Given the description of an element on the screen output the (x, y) to click on. 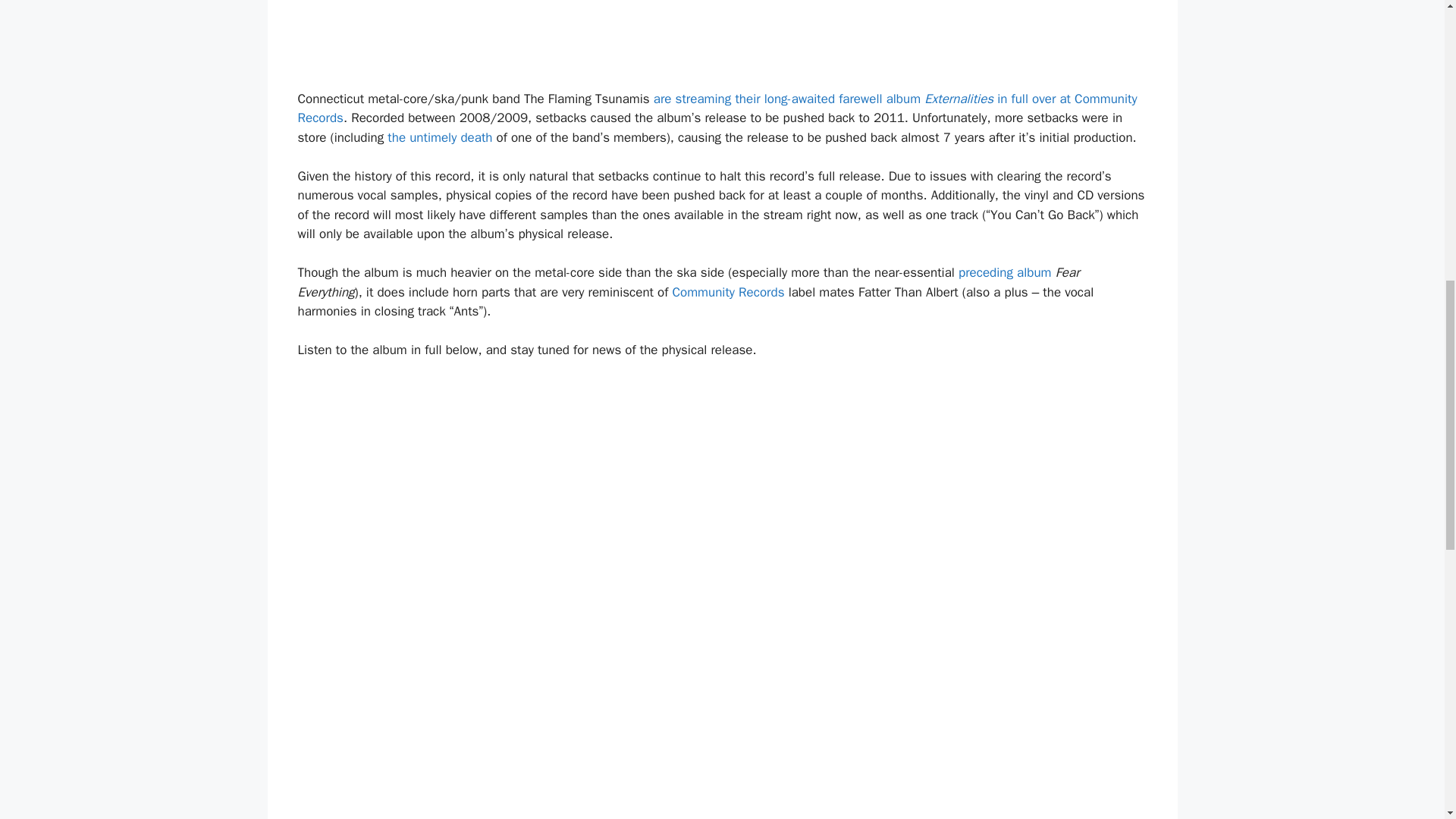
preceding album (1004, 272)
the untimely death (439, 137)
Bike Enthusiast, Musician Shot Dead l New Haven Independent (439, 137)
Community Records (727, 292)
Flaming Tsunamis - Fear Everything l Bandcamp (1004, 272)
The Flaming Tsunamis l Community Records (717, 108)
Community Records (727, 292)
